Given the description of an element on the screen output the (x, y) to click on. 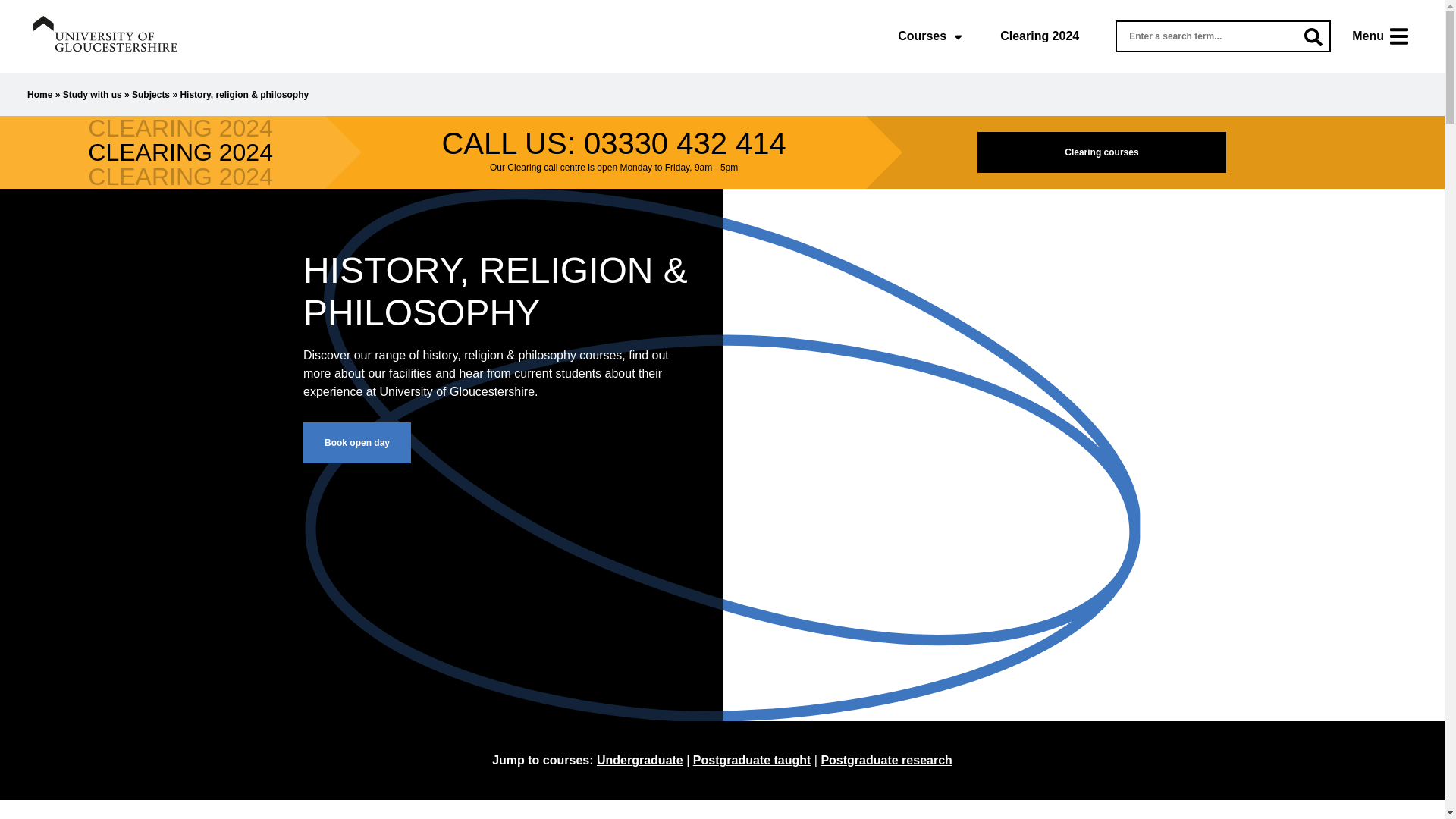
Visit the homepage (105, 33)
Clearing 2024 (1039, 36)
on (4, 4)
on (1407, 4)
Visit the homepage (105, 35)
